Given the description of an element on the screen output the (x, y) to click on. 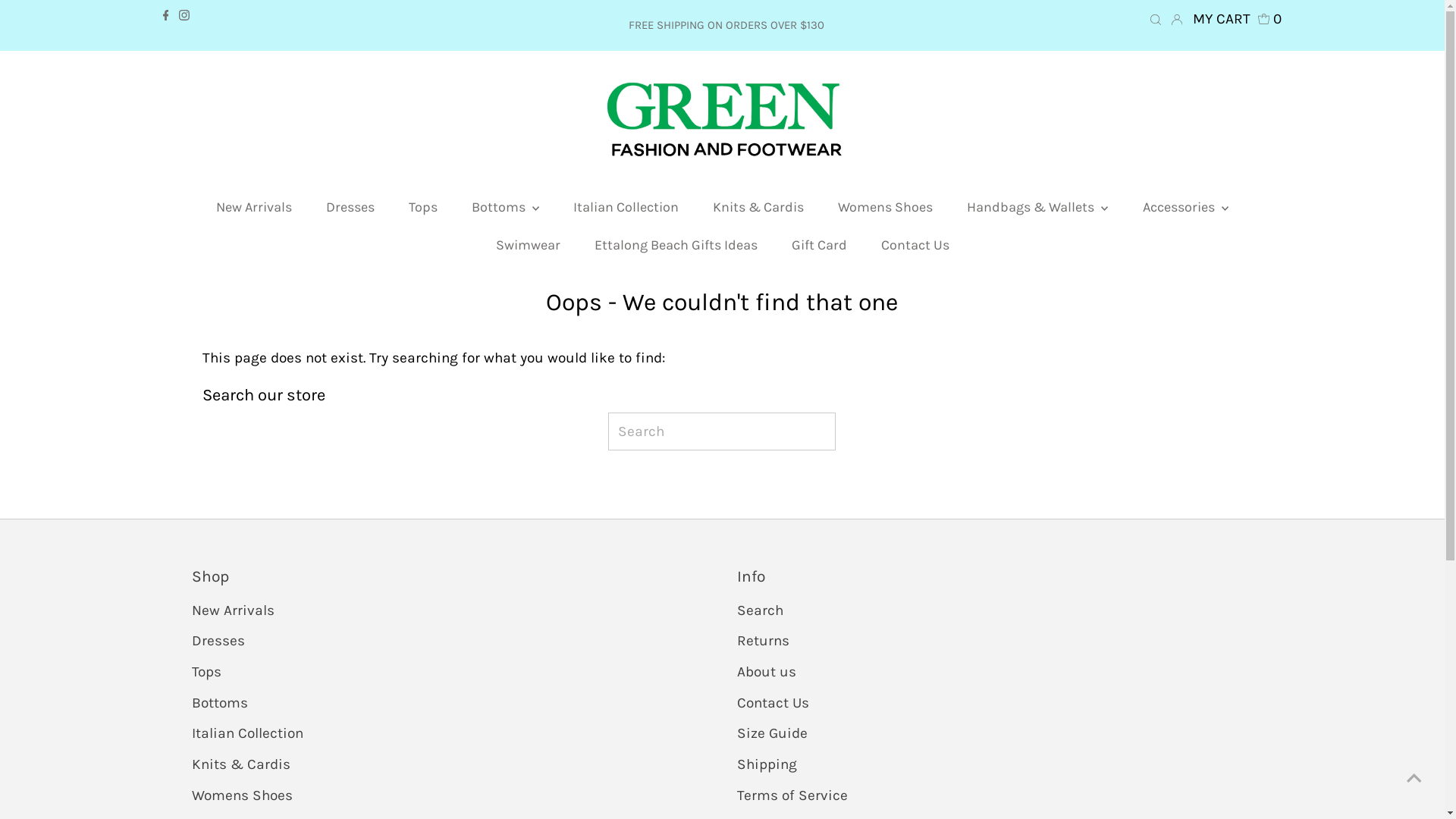
Ettalong Beach Gifts Ideas Element type: text (675, 244)
Dresses Element type: text (217, 640)
Dresses Element type: text (349, 206)
Knits & Cardis Element type: text (758, 206)
Womens Shoes Element type: text (241, 795)
Tops Element type: text (422, 206)
Italian Collection Element type: text (246, 732)
Swimwear Element type: text (527, 244)
Tops Element type: text (205, 671)
Search Element type: text (760, 610)
Shipping Element type: text (767, 764)
Contact Us Element type: text (915, 244)
About us Element type: text (766, 671)
Returns Element type: text (763, 640)
Contact Us Element type: text (773, 702)
Knits & Cardis Element type: text (240, 764)
Terms of Service Element type: text (792, 795)
Gift Card Element type: text (819, 244)
New Arrivals Element type: text (253, 206)
Italian Collection Element type: text (625, 206)
Womens Shoes Element type: text (884, 206)
Bottoms Element type: text (219, 702)
Size Guide Element type: text (772, 732)
New Arrivals Element type: text (232, 610)
